Given the description of an element on the screen output the (x, y) to click on. 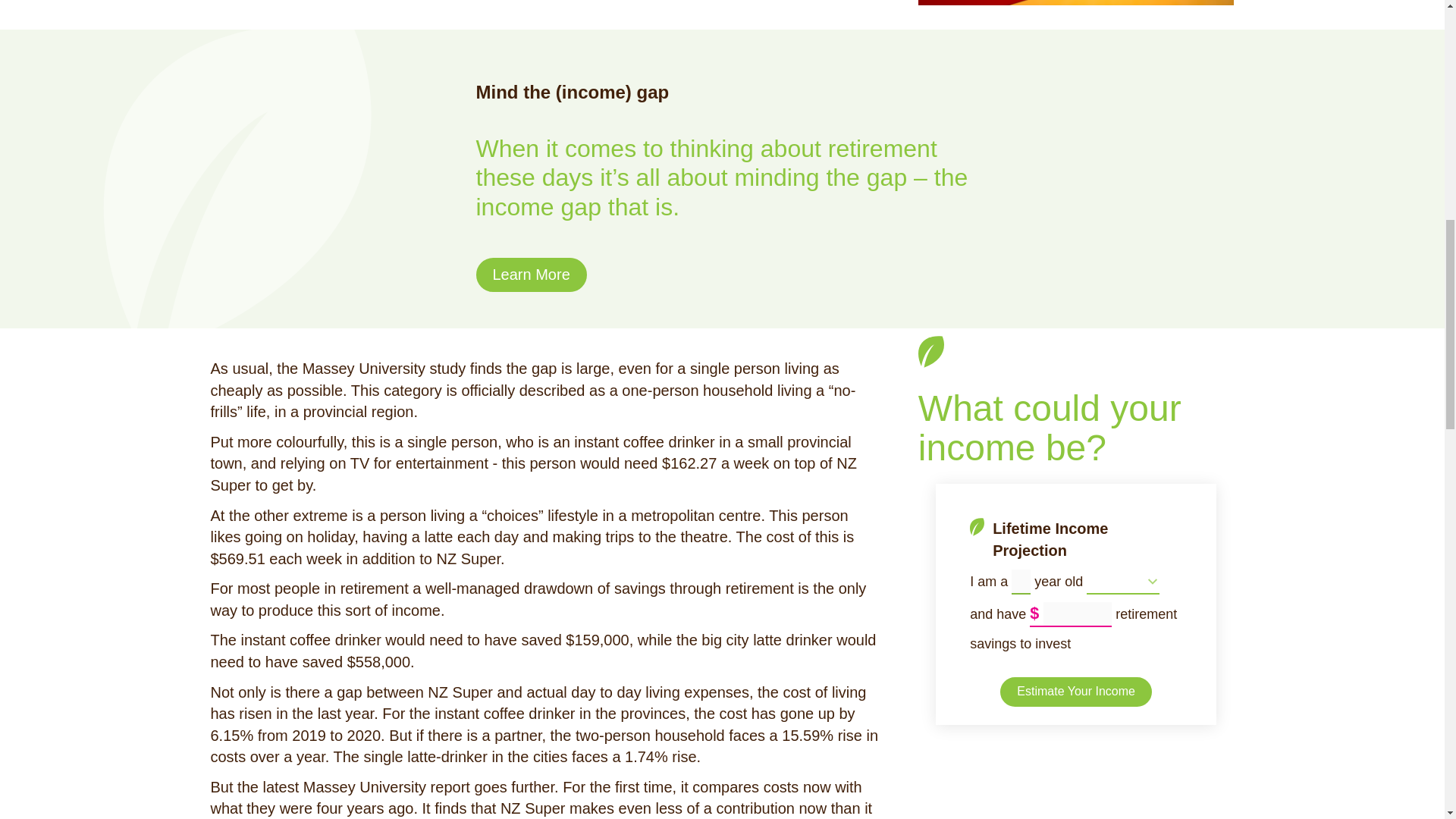
Your gender (1122, 581)
